Given the description of an element on the screen output the (x, y) to click on. 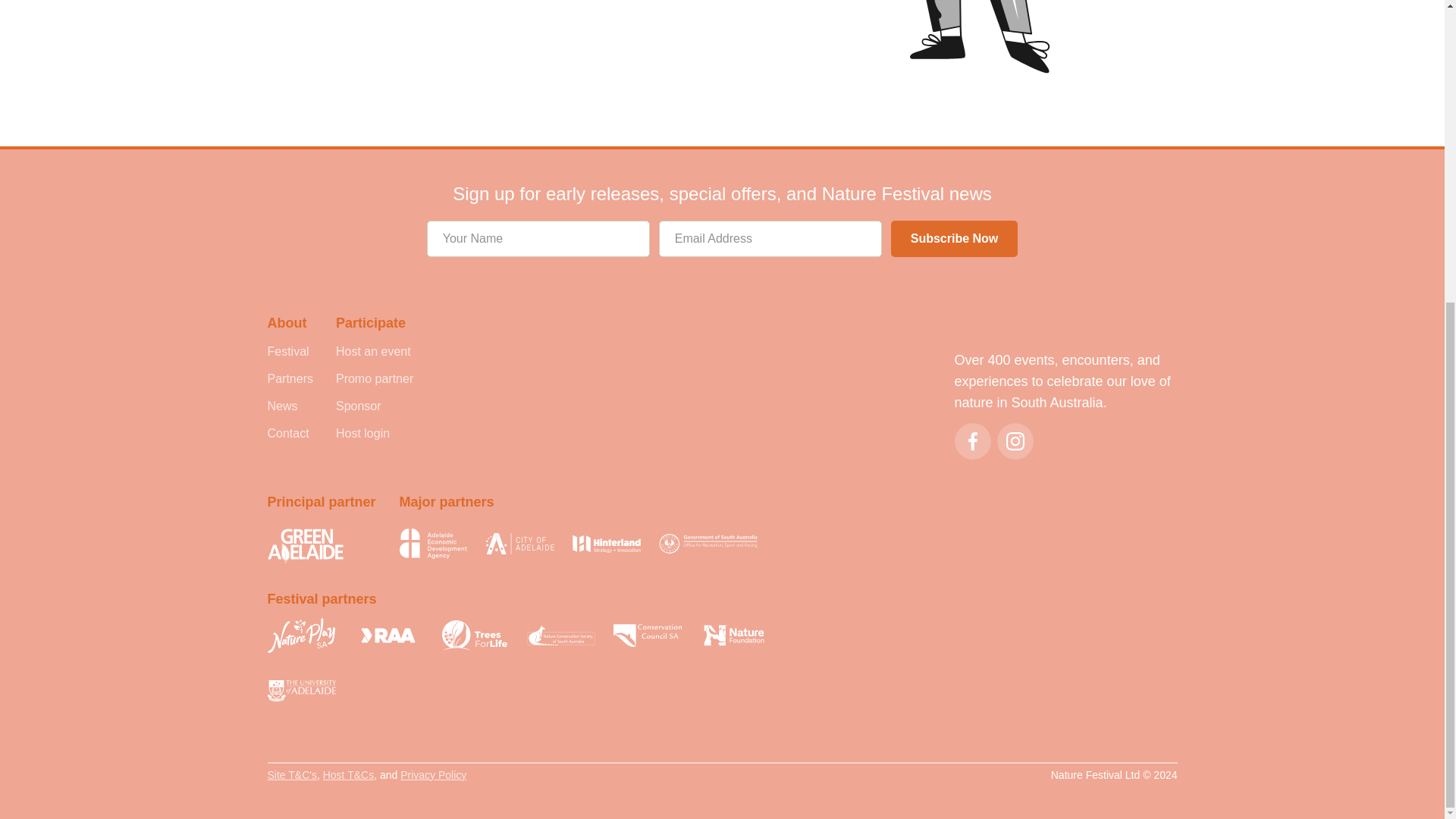
Subscribe Now (954, 238)
